Given the description of an element on the screen output the (x, y) to click on. 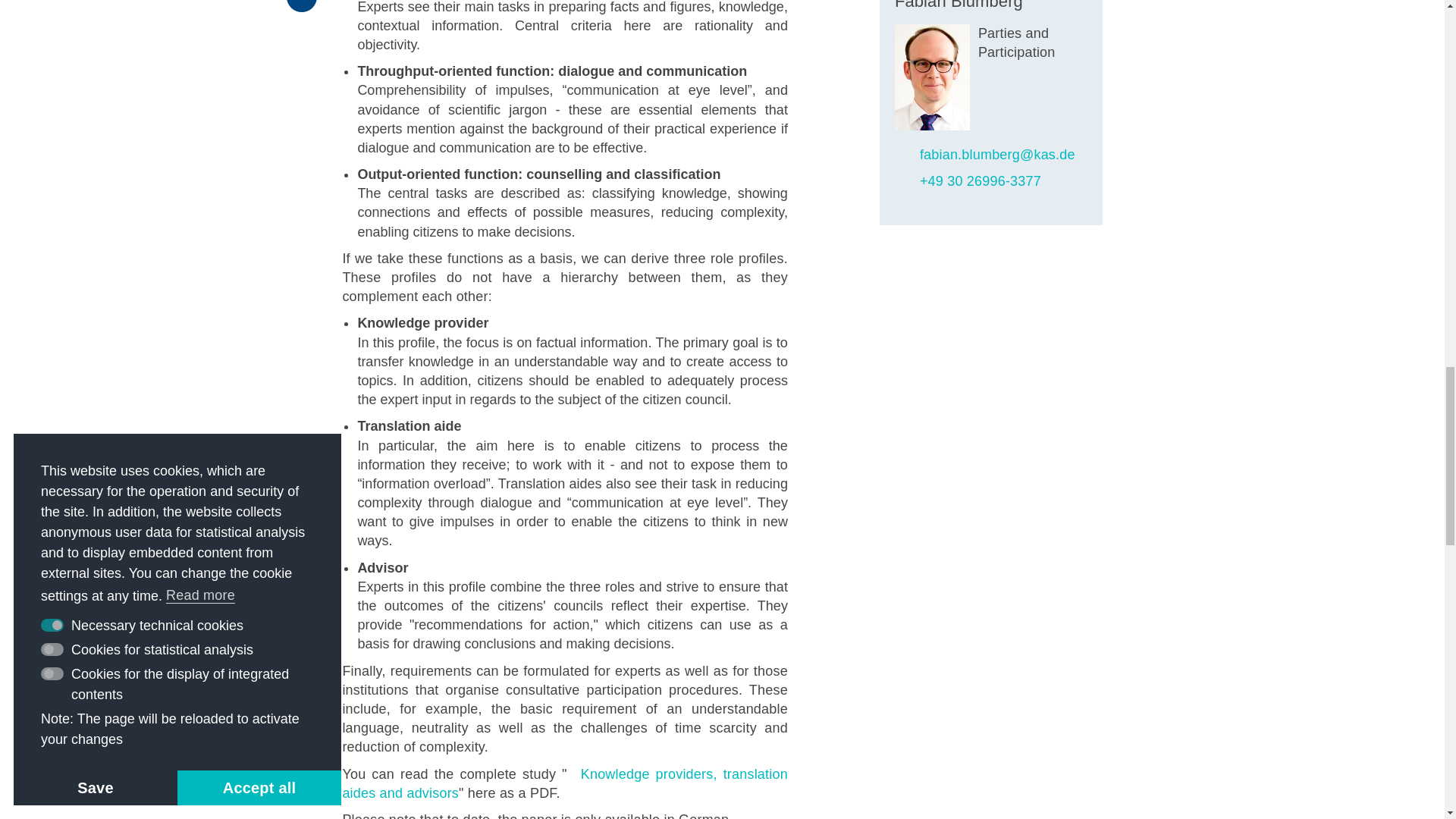
Share (301, 6)
